Given the description of an element on the screen output the (x, y) to click on. 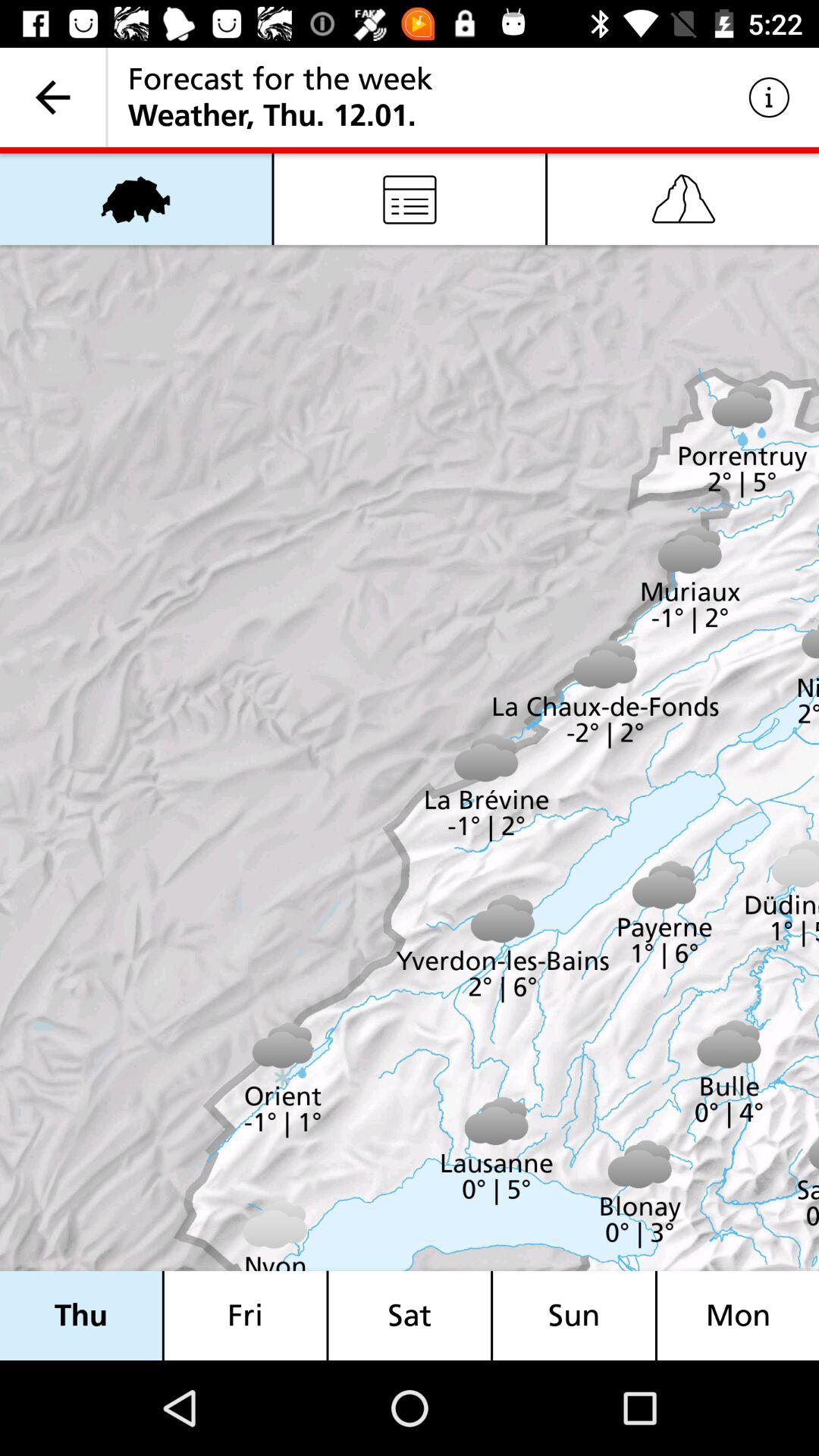
turn off item to the left of the sun item (409, 1315)
